Given the description of an element on the screen output the (x, y) to click on. 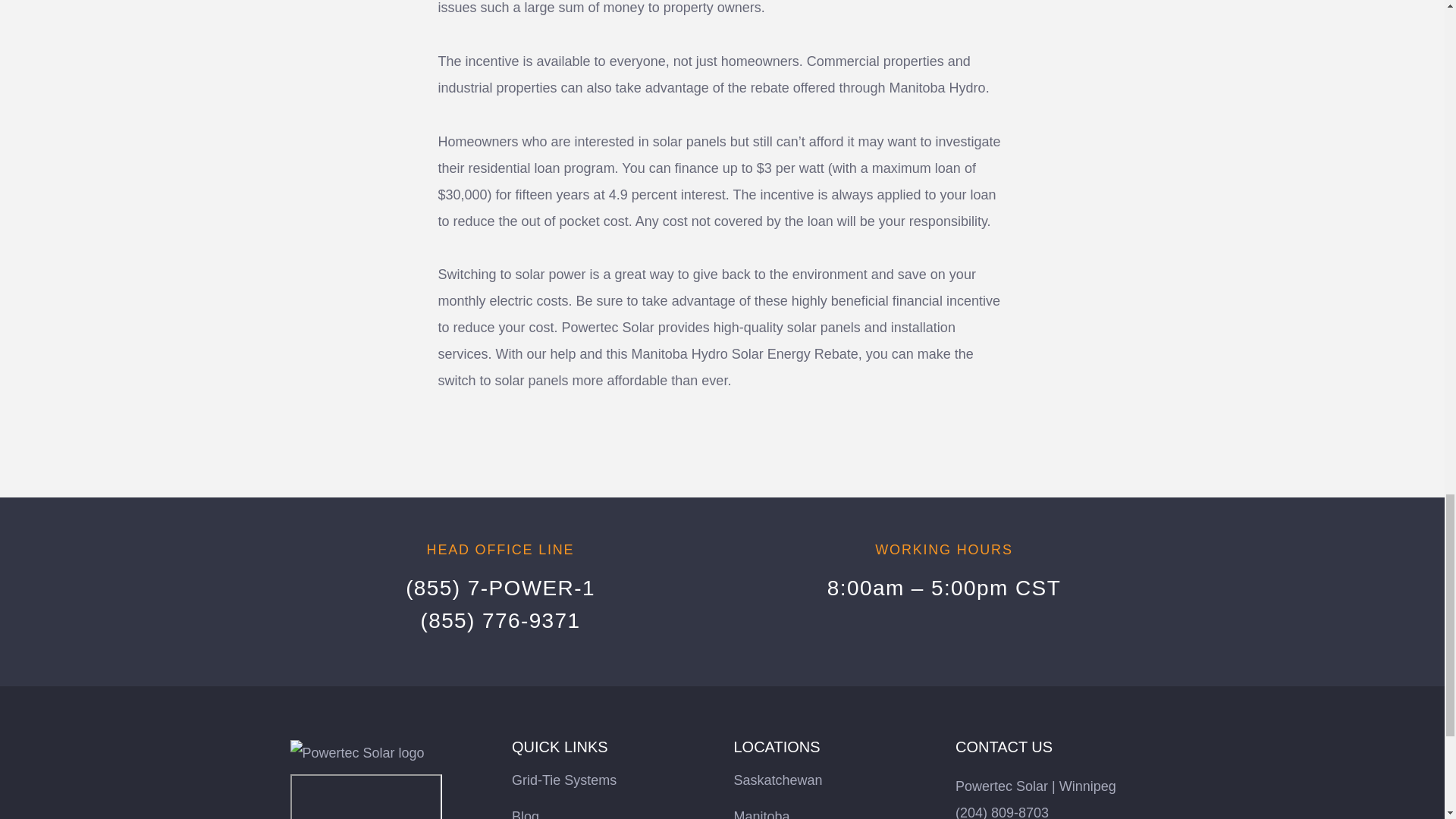
Manitoba (761, 814)
Saskatchewan (777, 780)
Grid-Tie Systems (563, 780)
Blog (525, 814)
